Given the description of an element on the screen output the (x, y) to click on. 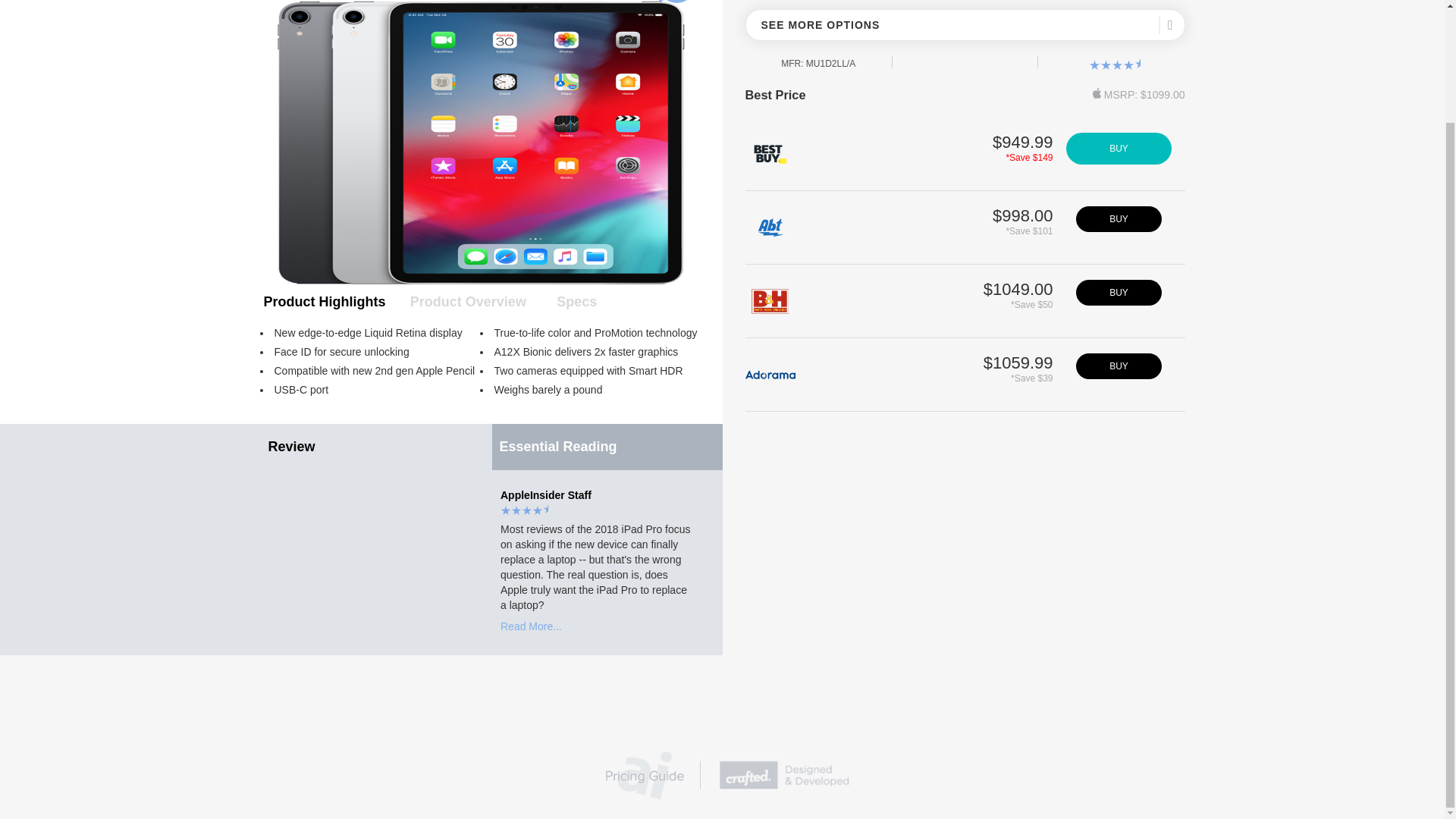
Essential Reading (607, 447)
Read More... (531, 625)
Specs (576, 301)
Product Overview (467, 301)
Product Highlights (323, 301)
Review (376, 447)
